Given the description of an element on the screen output the (x, y) to click on. 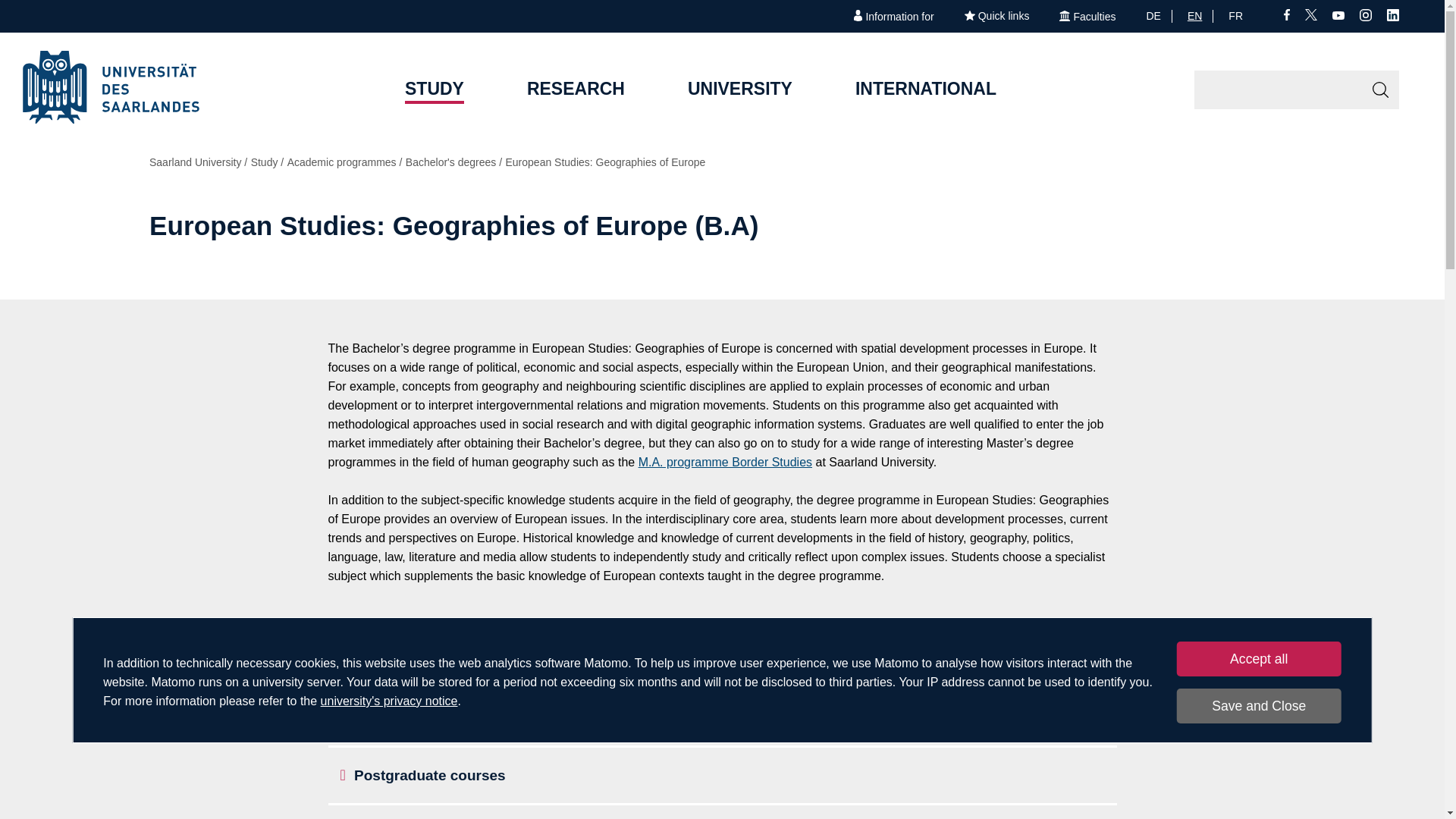
Study (434, 91)
Instagram (1365, 17)
Faculties (1087, 16)
Englisch (1200, 15)
Youtube (1337, 15)
STUDY (434, 91)
X Twitter (1310, 16)
Information for (893, 16)
FR (1240, 15)
LinkedIn (1393, 17)
